Given the description of an element on the screen output the (x, y) to click on. 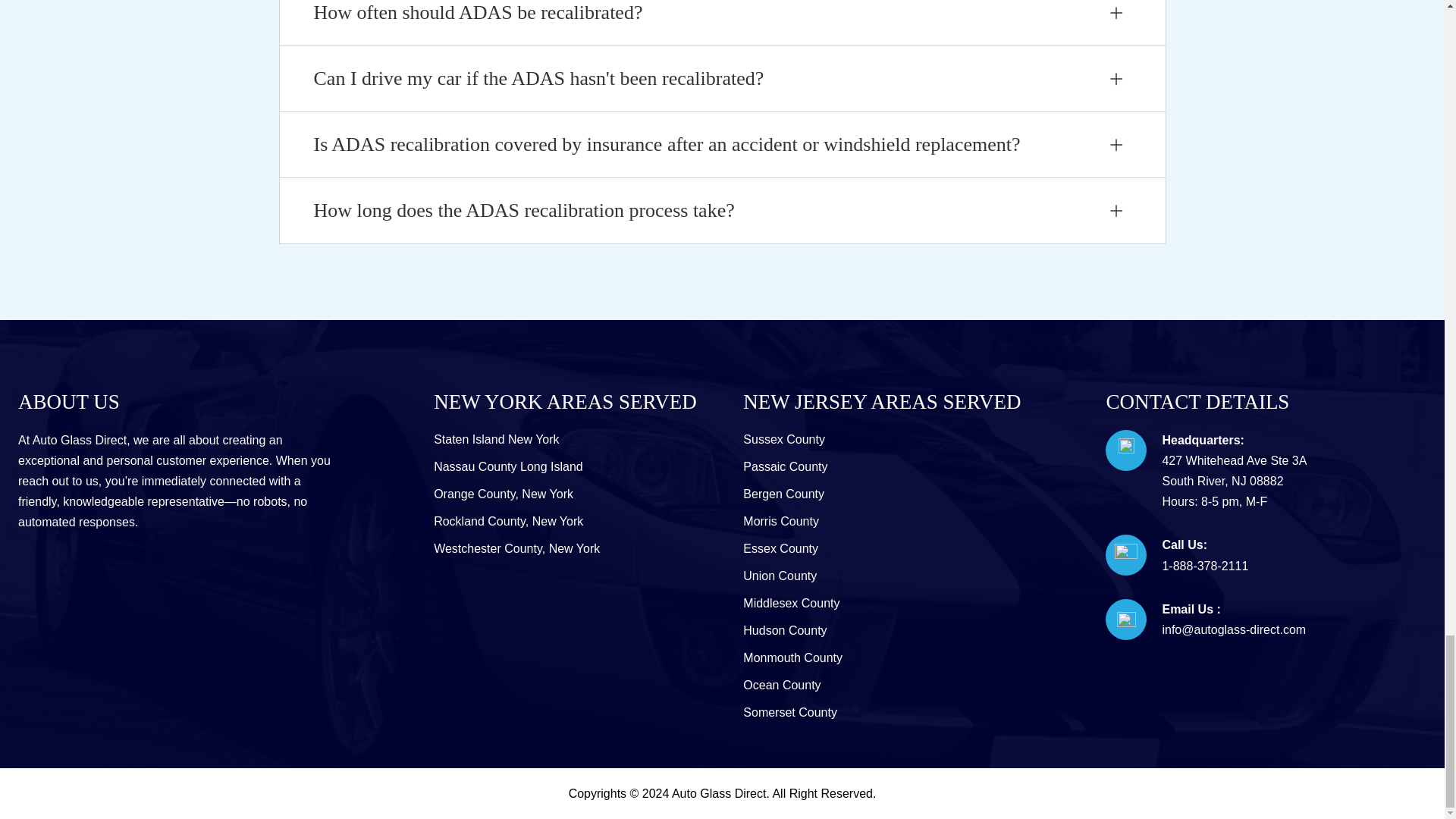
1-888-378-2111 (1204, 565)
Essex County (780, 548)
Somerset County (789, 712)
Nassau County Long Island (508, 466)
Passaic County (784, 466)
Staten Island New York (496, 439)
Orange County, New York (503, 493)
Union County (779, 575)
Sussex County (783, 439)
Rockland County, New York (508, 521)
